Given the description of an element on the screen output the (x, y) to click on. 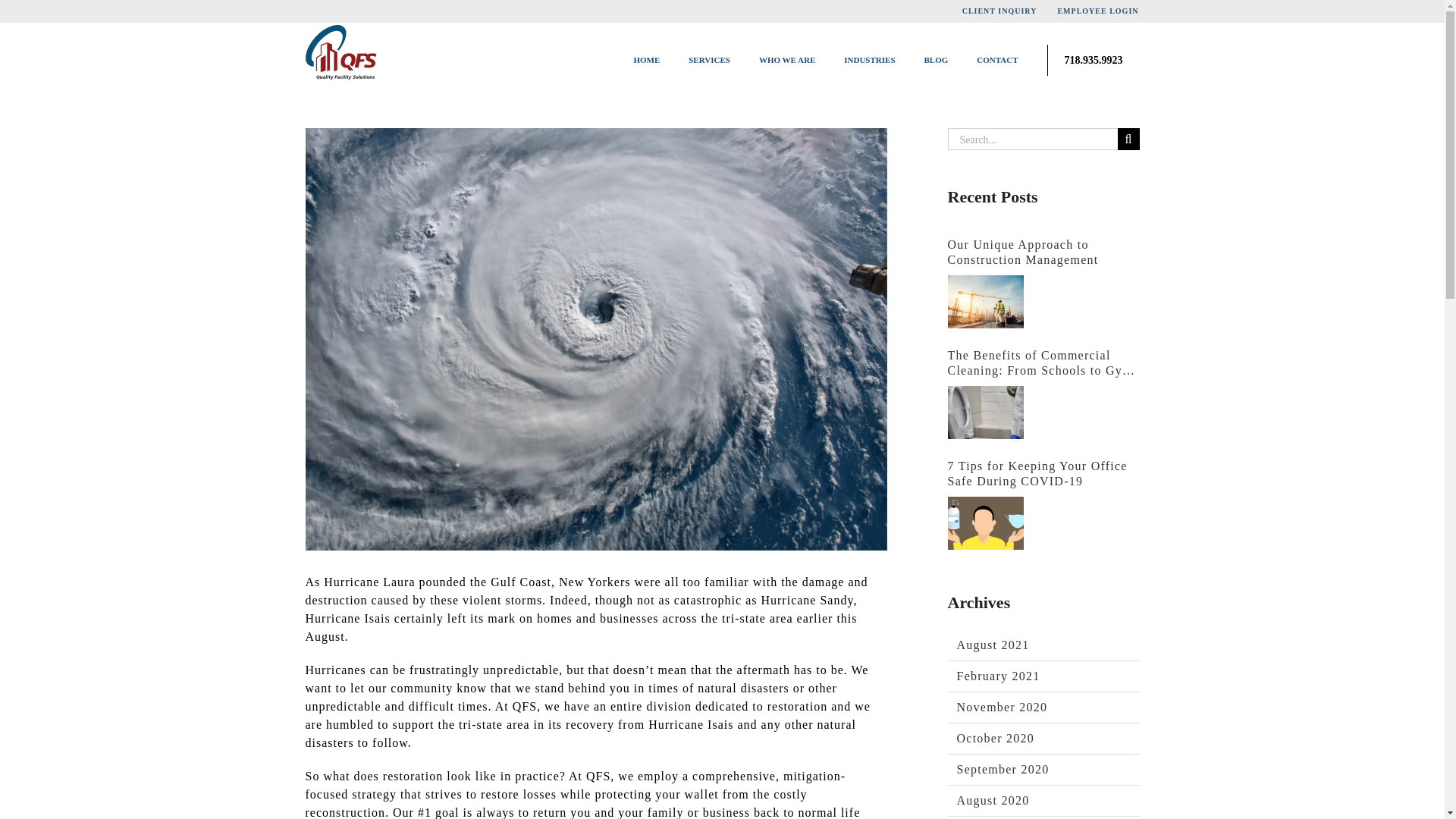
EMPLOYEE LOGIN (1097, 11)
718.935.9923 (1092, 60)
7 Tips for Keeping Your Office Safe During COVID-19 (985, 522)
CLIENT INQUIRY (1000, 11)
Our Unique Approach to Construction Management (985, 301)
